Given the description of an element on the screen output the (x, y) to click on. 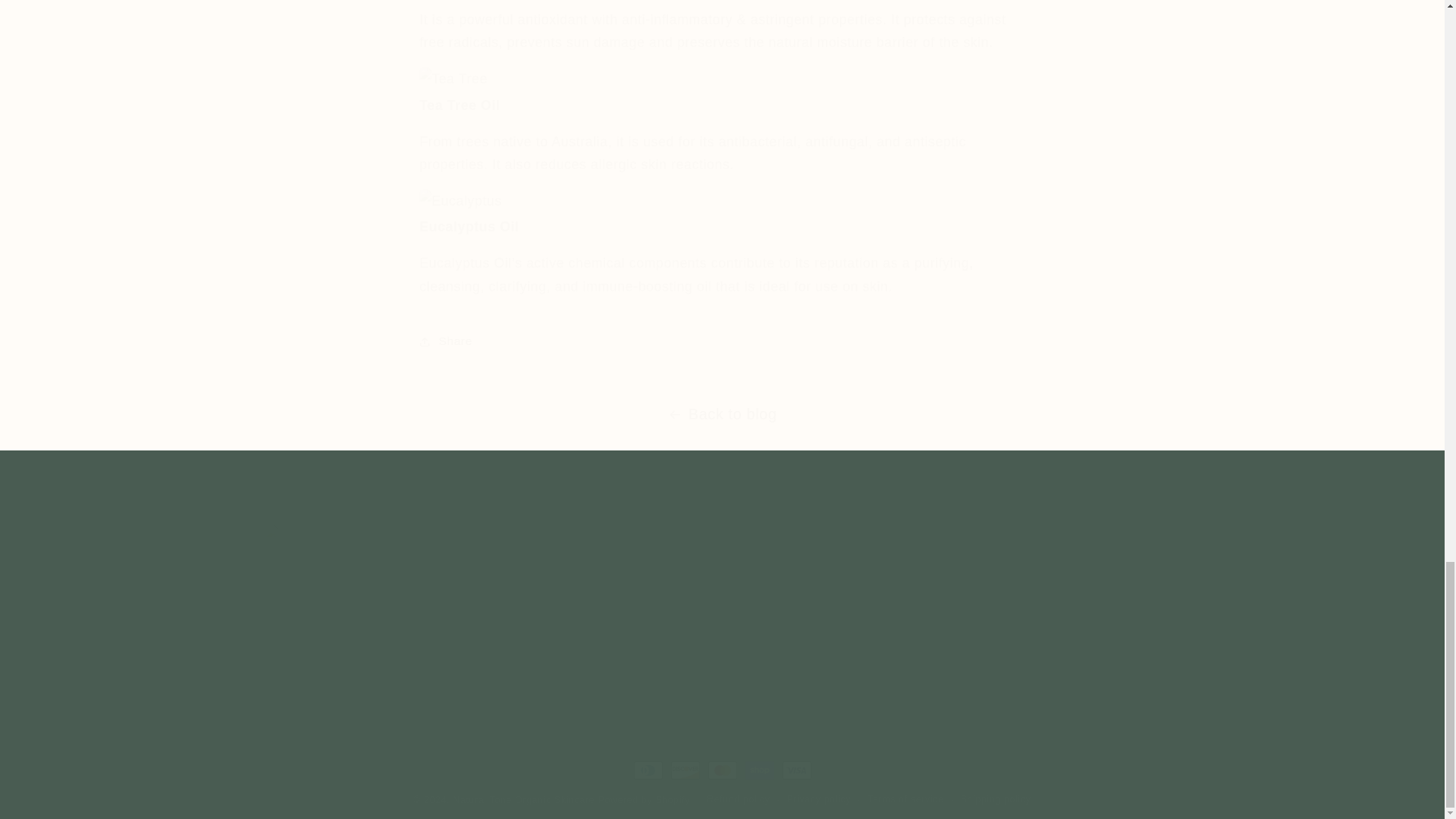
Instagram (1013, 575)
YouTube (1050, 575)
Sun Science (534, 654)
Contact Us (530, 683)
Frequently Asked Questions (578, 626)
Share (1074, 610)
